Given the description of an element on the screen output the (x, y) to click on. 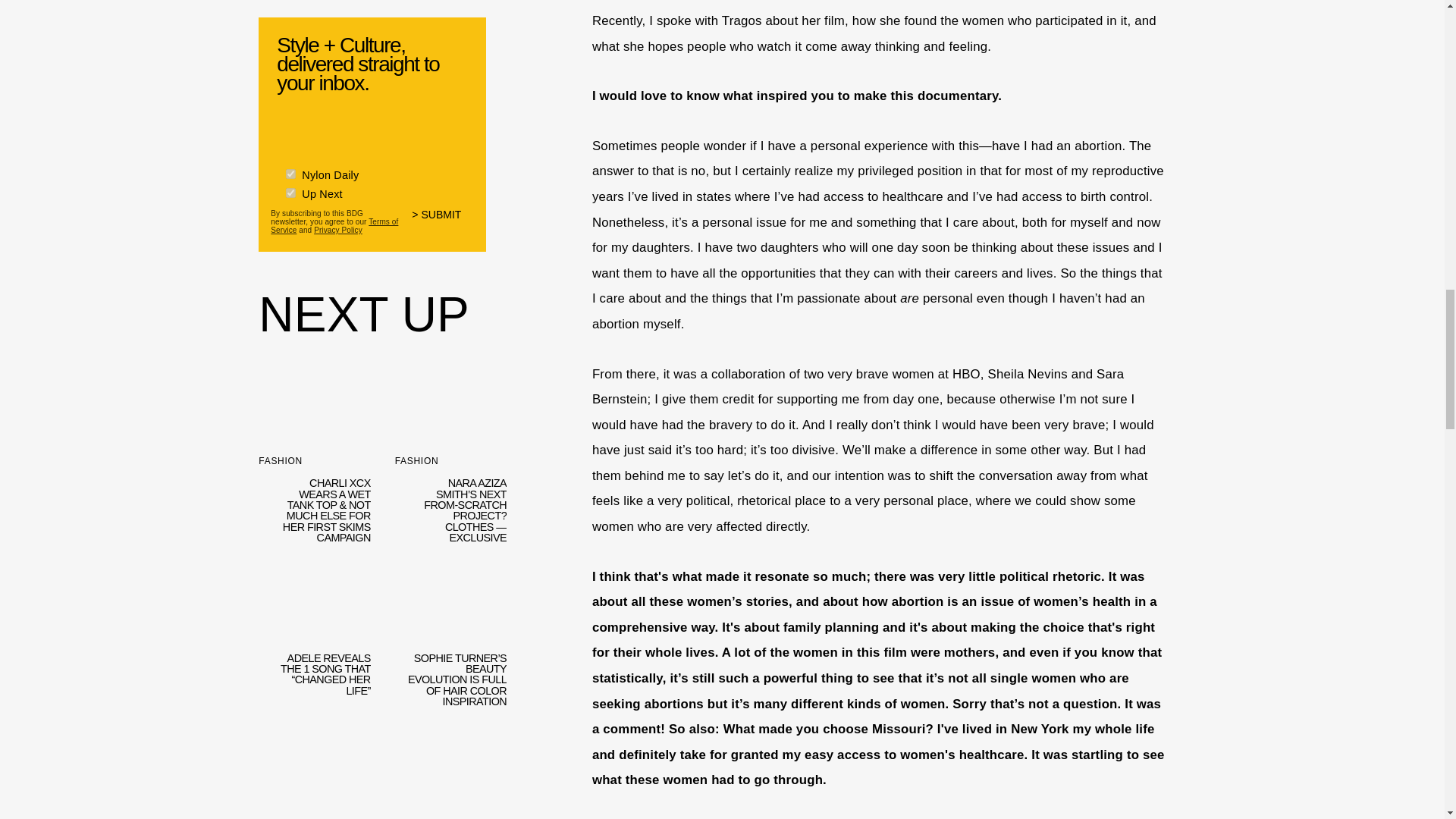
Terms of Service (333, 225)
Privacy Policy (338, 230)
SUBMIT (443, 222)
